Given the description of an element on the screen output the (x, y) to click on. 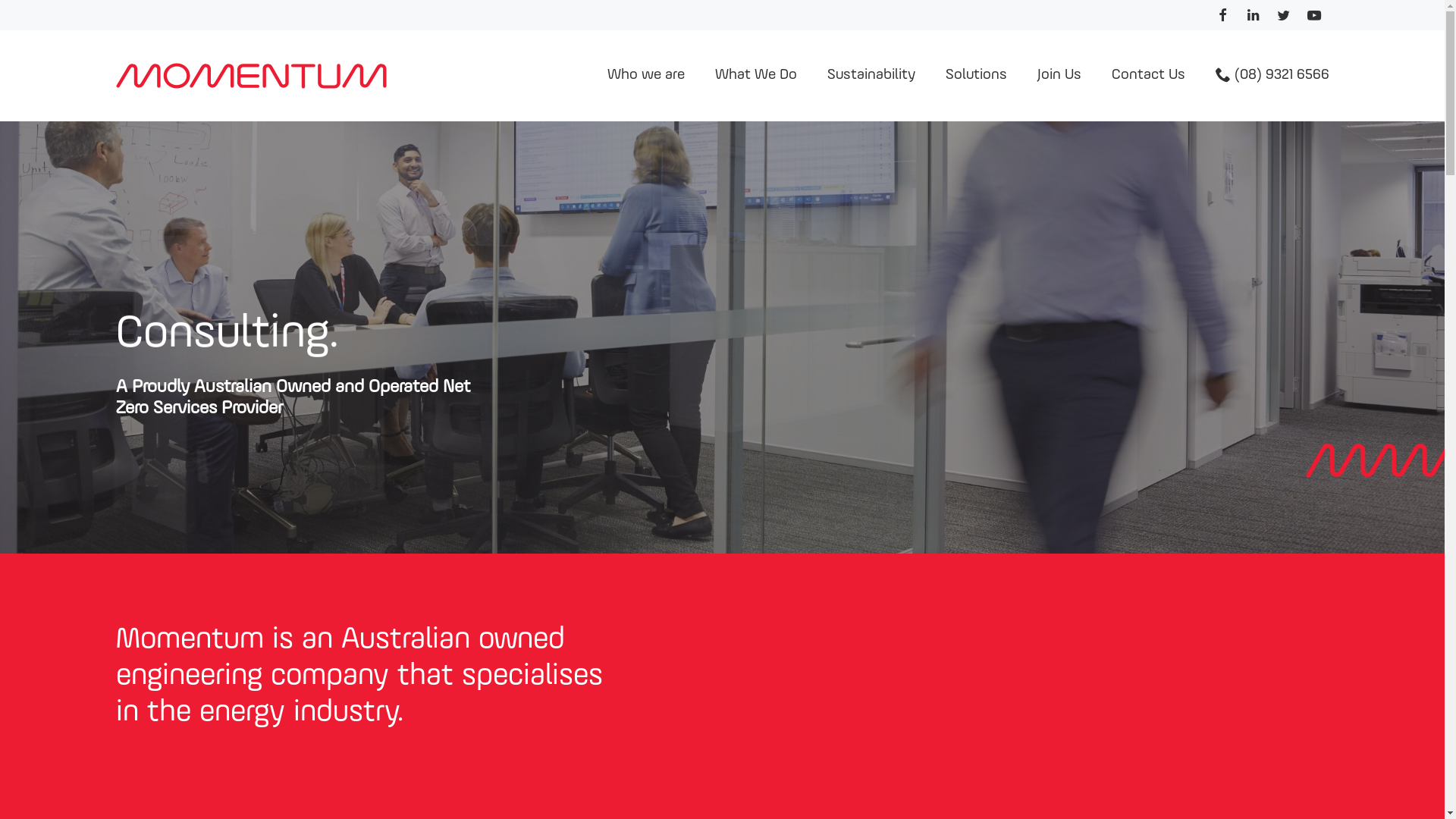
Who we are Element type: text (645, 75)
Sustainability Element type: text (870, 75)
Contact Us Element type: text (1148, 75)
Join Us Element type: text (1059, 75)
(08) 9321 6566 Element type: text (1271, 75)
What We Do Element type: text (755, 75)
Solutions Element type: text (975, 75)
